Given the description of an element on the screen output the (x, y) to click on. 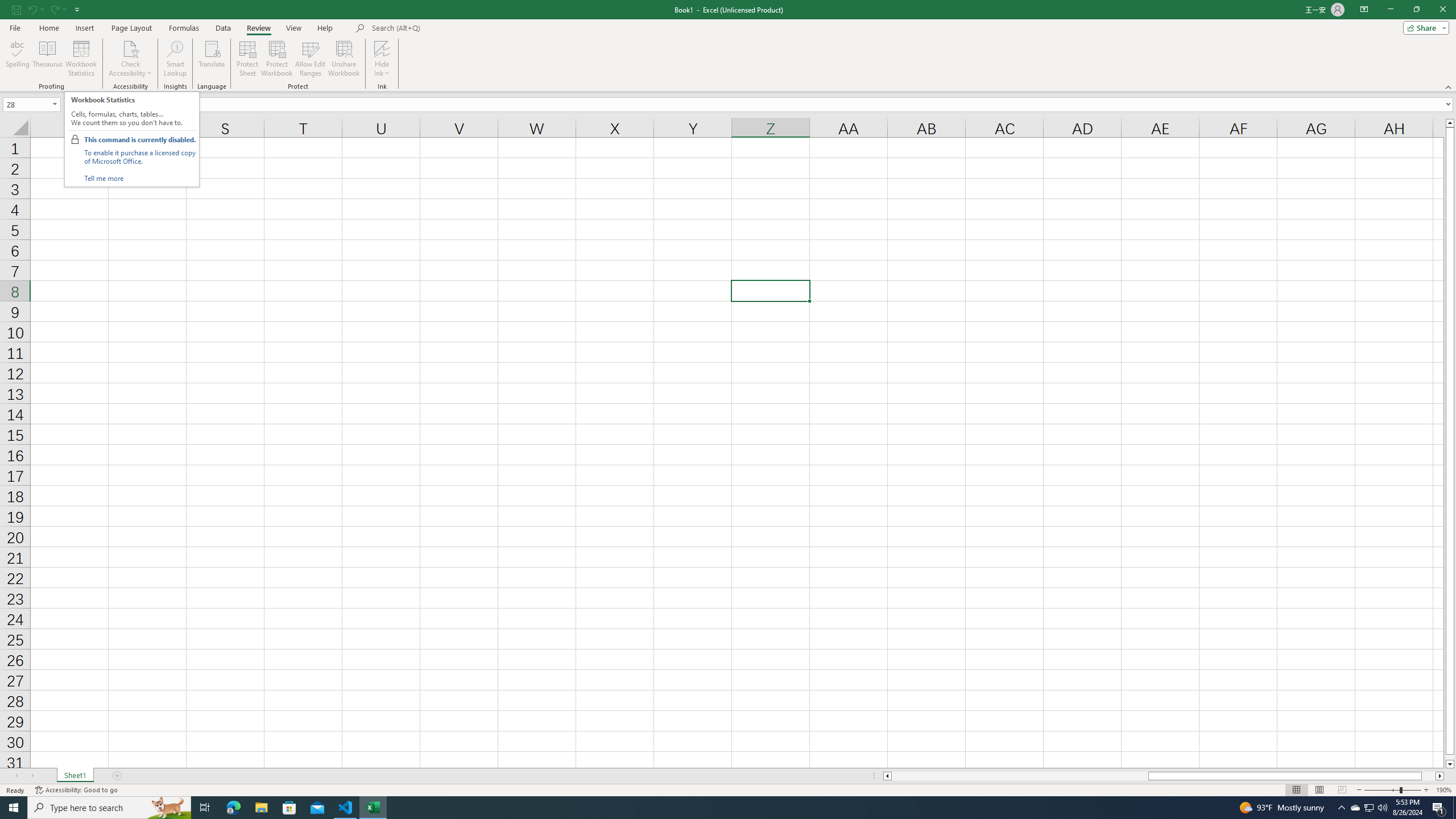
Thesaurus... (47, 58)
Allow Edit Ranges (310, 58)
